Given the description of an element on the screen output the (x, y) to click on. 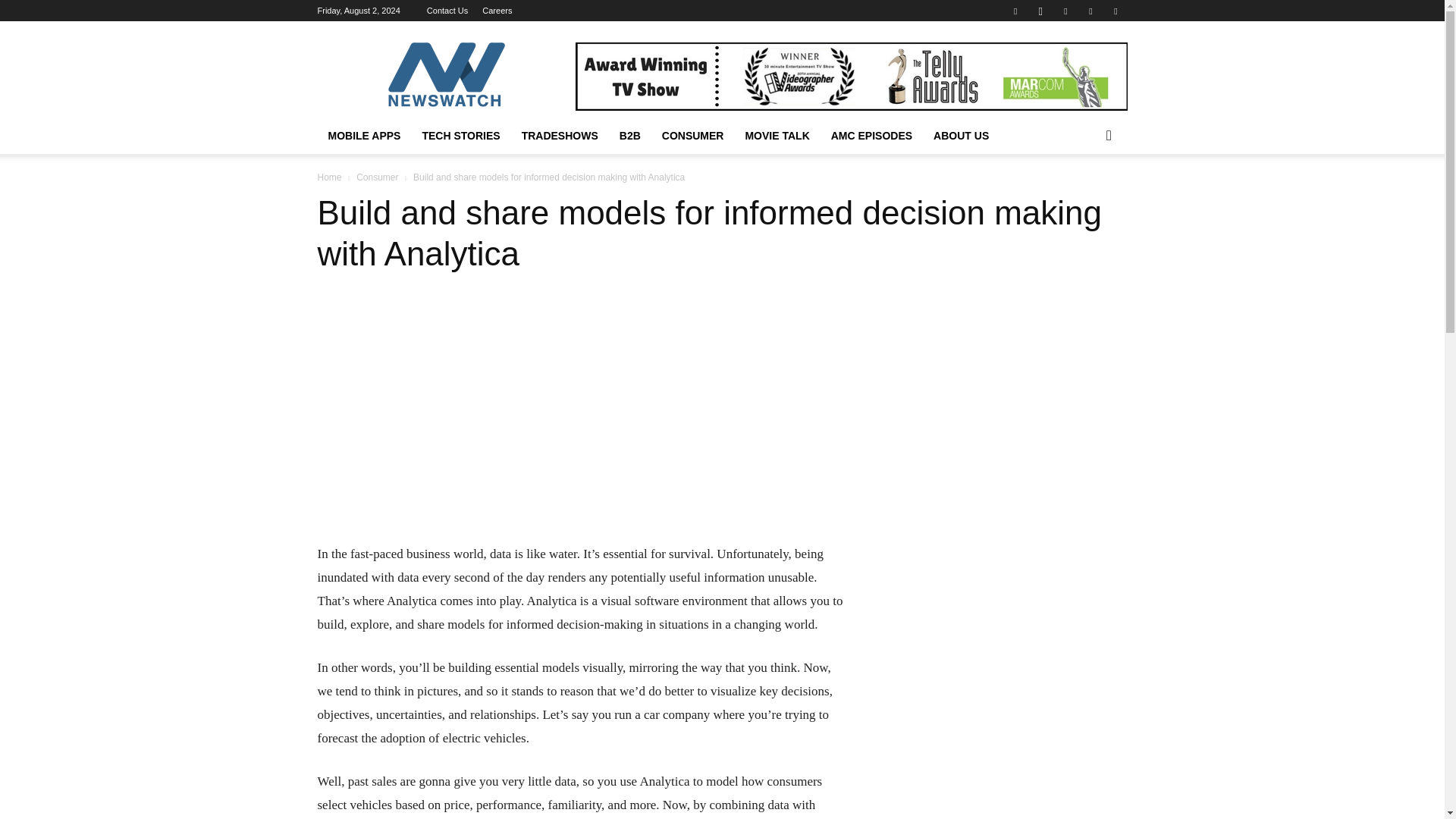
View all posts in Consumer (376, 176)
Vimeo (1090, 10)
NewsWatch (445, 76)
Facebook (1015, 10)
Twitter (1065, 10)
Instagram (1040, 10)
Youtube (1114, 10)
